Given the description of an element on the screen output the (x, y) to click on. 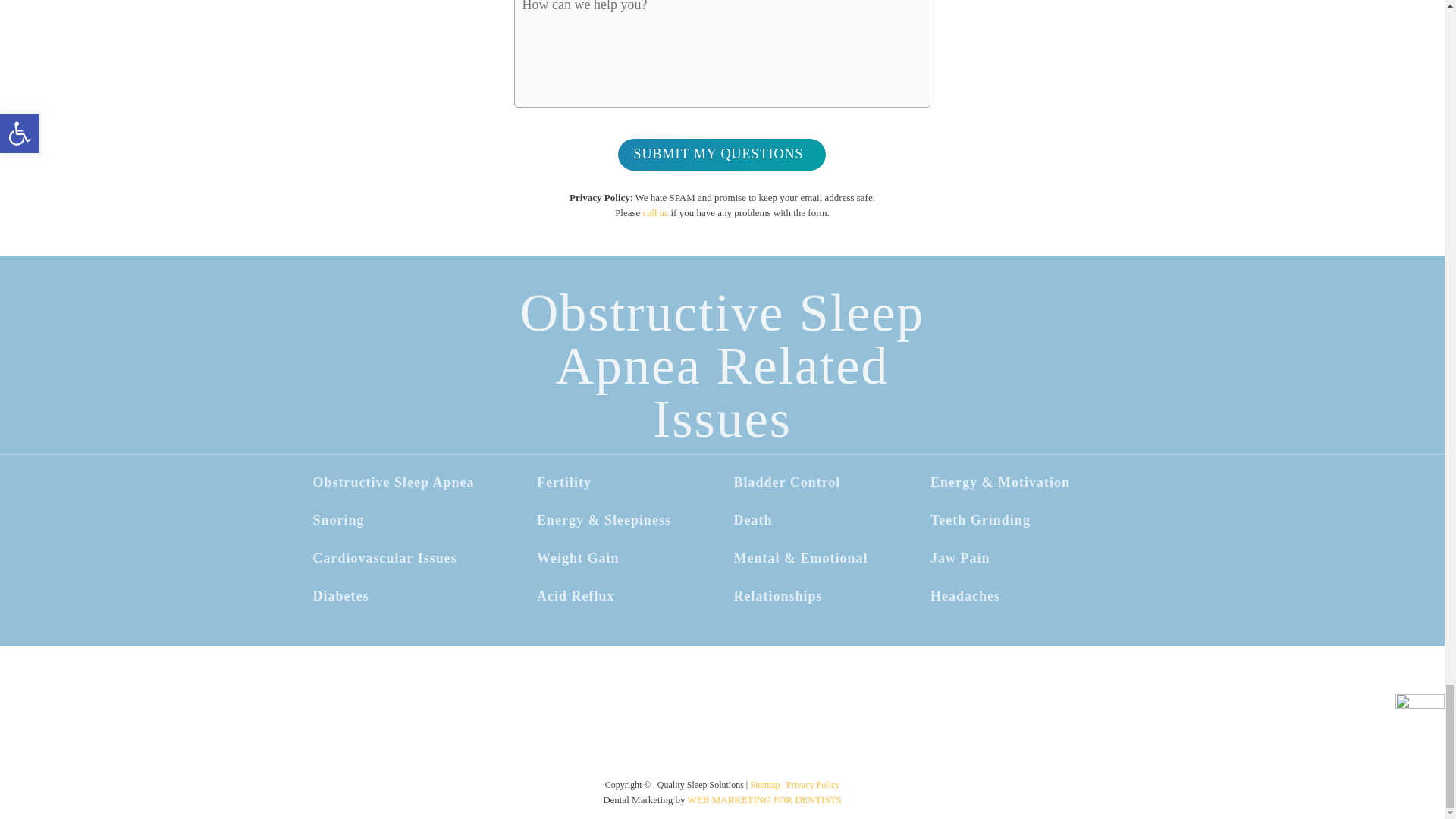
Submit My Questions (721, 154)
